Given the description of an element on the screen output the (x, y) to click on. 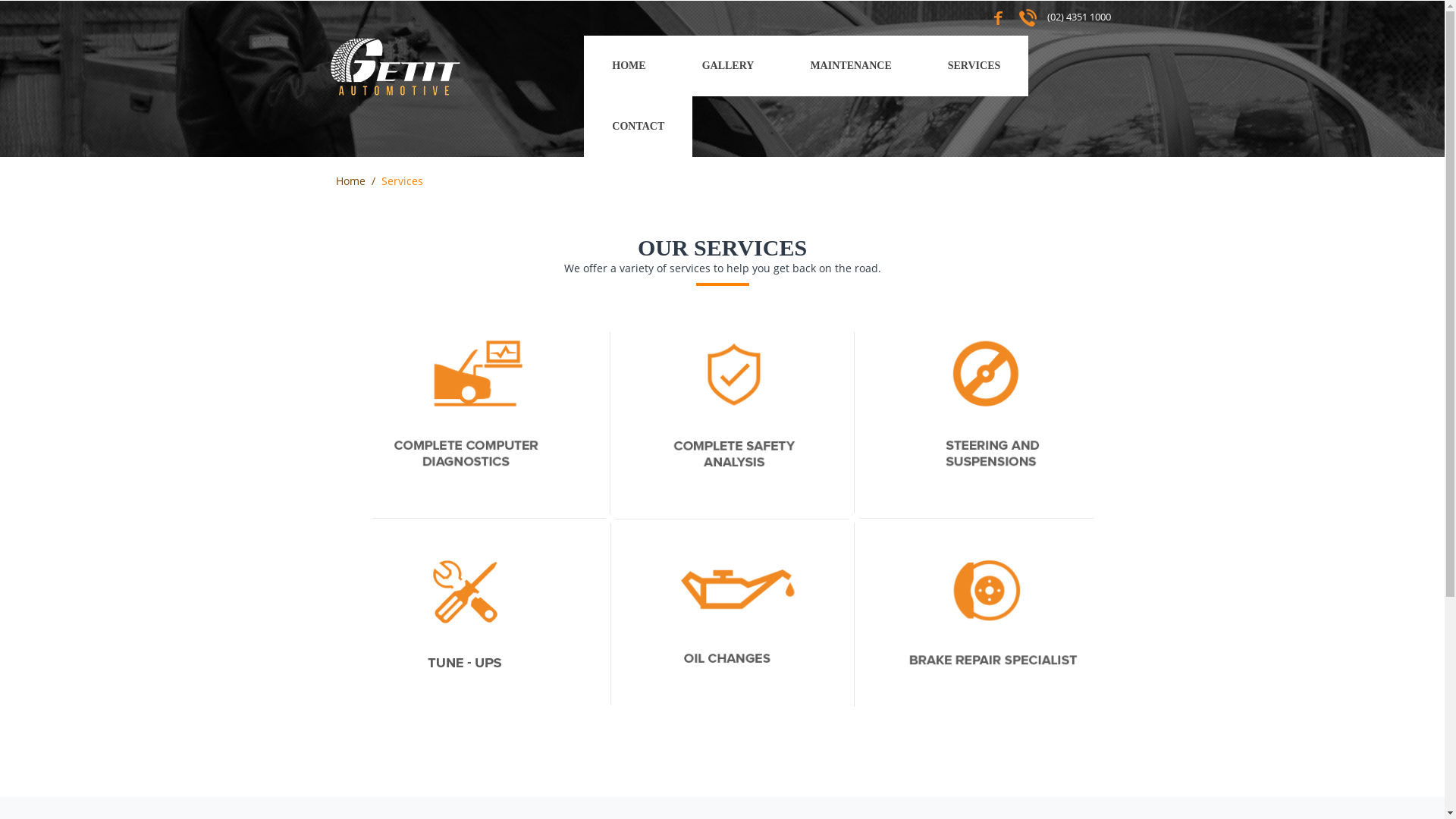
MAINTENANCE Element type: text (850, 65)
Home Element type: text (349, 180)
(02) 4351 1000 Element type: text (1078, 16)
GALLERY Element type: text (728, 65)
SERVICES Element type: text (974, 65)
CONTACT Element type: text (637, 126)
HOME Element type: text (628, 65)
